Given the description of an element on the screen output the (x, y) to click on. 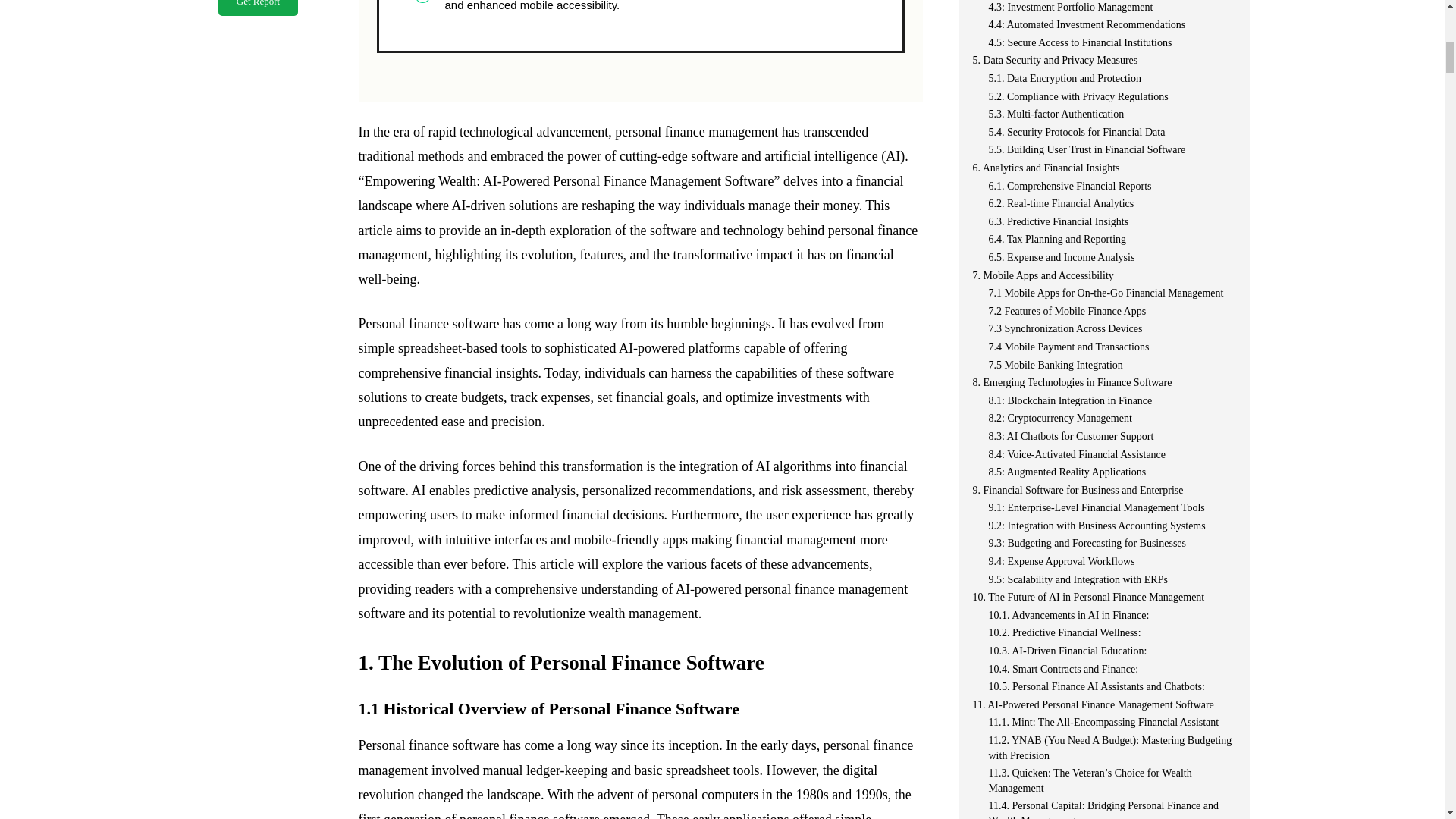
Get Report (258, 7)
Get Report (258, 7)
